Given the description of an element on the screen output the (x, y) to click on. 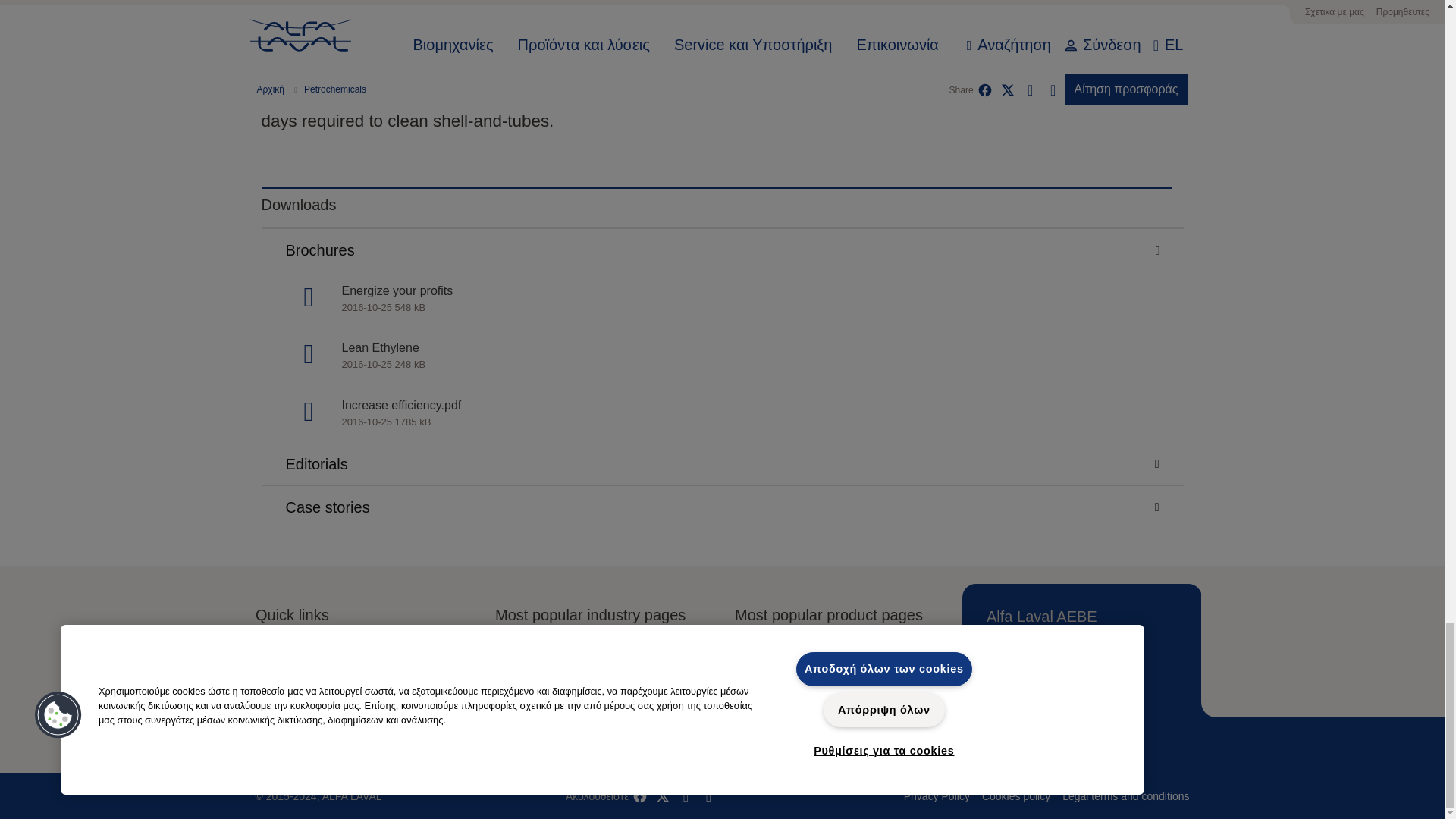
Increase efficiency PPI00603EN.pdf (721, 414)
